Given the description of an element on the screen output the (x, y) to click on. 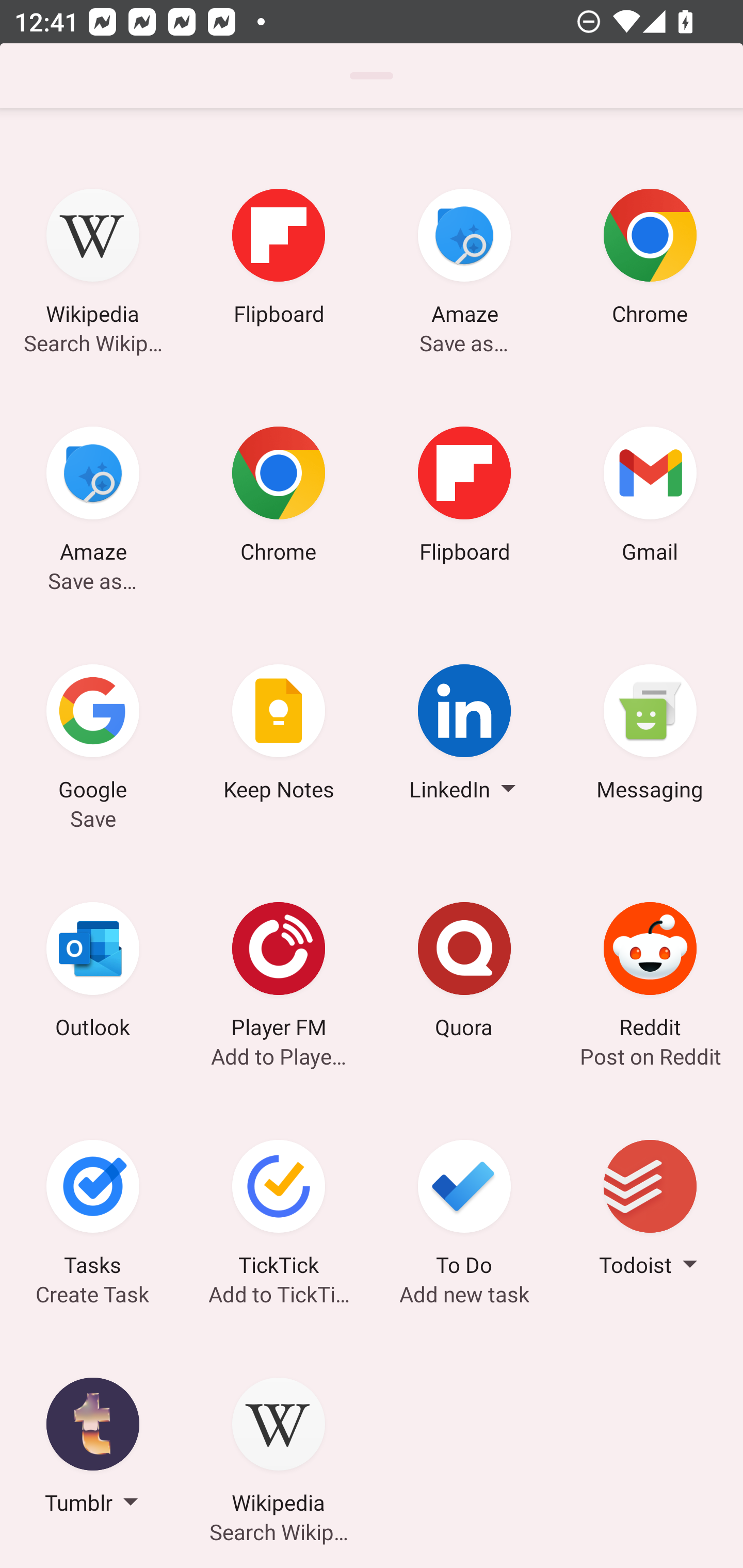
Wikipedia Search Wikipedia (92, 260)
Flipboard (278, 260)
Amaze Save as… (464, 260)
Chrome (650, 260)
Amaze Save as… (92, 497)
Chrome (278, 497)
Flipboard (464, 497)
Gmail (650, 497)
Google Save (92, 735)
Keep Notes (278, 735)
LinkedIn (464, 735)
Messaging (650, 735)
Outlook (92, 973)
Player FM Add to Player FM (278, 973)
Quora (464, 973)
Reddit Post on Reddit (650, 973)
Tasks Create Task (92, 1210)
TickTick Add to TickTick (278, 1210)
To Do Add new task (464, 1210)
Todoist (650, 1210)
Tumblr (92, 1448)
Wikipedia Search Wikipedia (278, 1448)
